Given the description of an element on the screen output the (x, y) to click on. 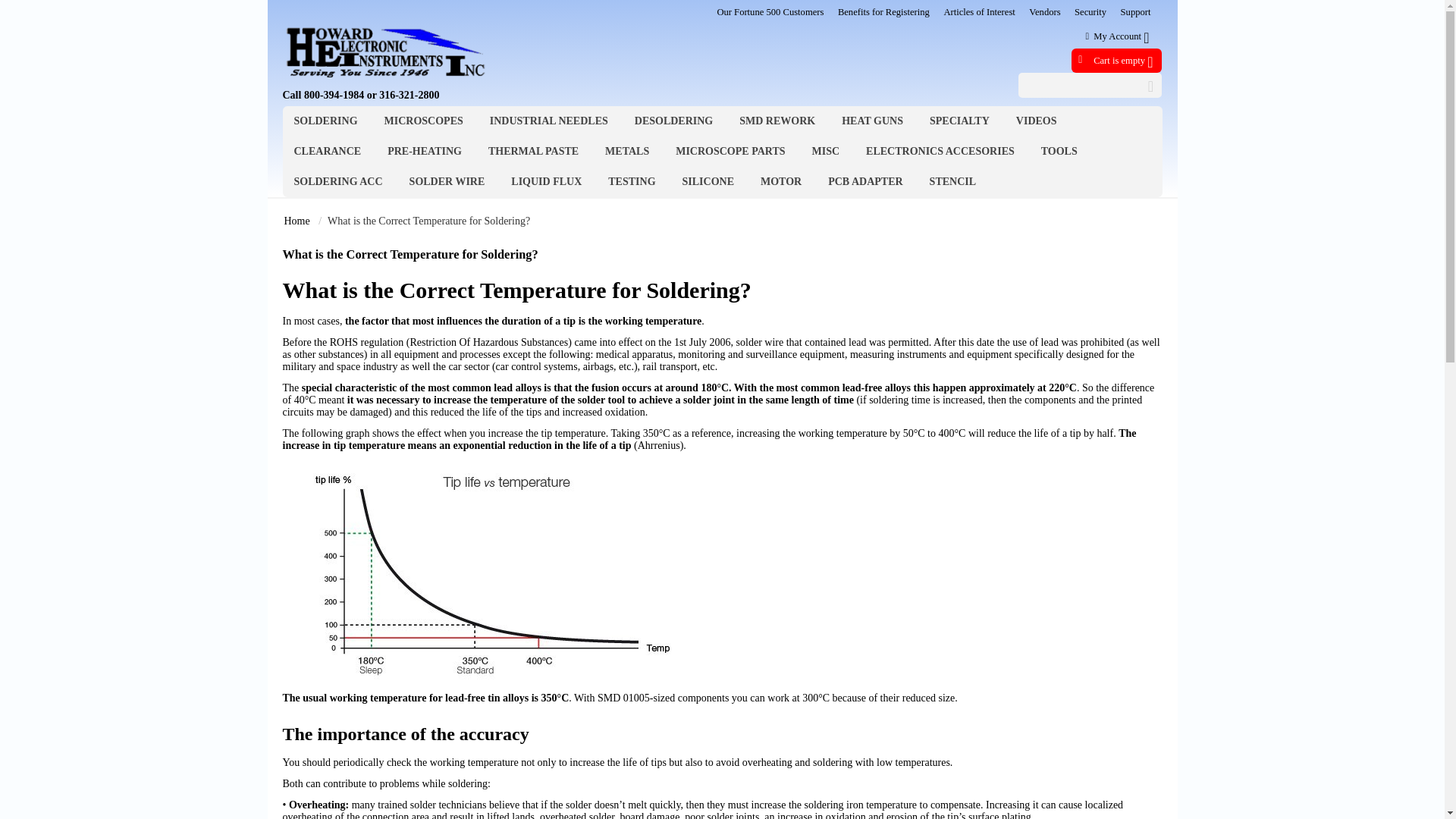
VIDEOS (1036, 121)
MICROSCOPES (423, 121)
HEAT GUNS (871, 121)
  My Account (1117, 36)
Benefits for Registering (884, 11)
Articles of Interest (978, 11)
Security (1090, 11)
Howard Electronic Instruments, Inc. serving you since 1946 (384, 50)
SOLDERING (325, 121)
DESOLDERING (673, 121)
Vendors (1044, 11)
Our Fortune 500 Customers (770, 11)
SPECIALTY (959, 121)
INDUSTRIAL NEEDLES (549, 121)
Search (1089, 84)
